Given the description of an element on the screen output the (x, y) to click on. 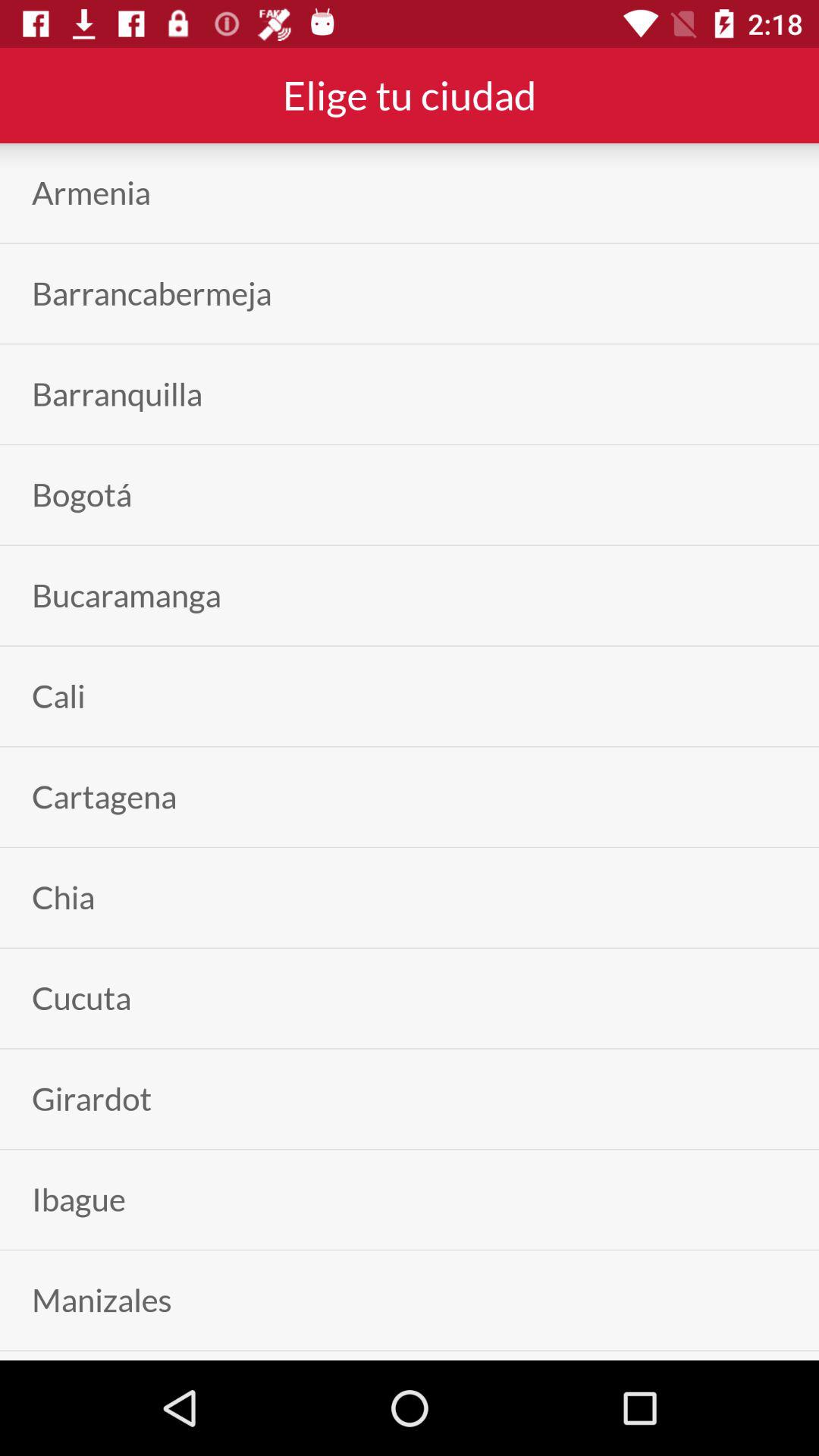
press the manizales icon (101, 1300)
